Given the description of an element on the screen output the (x, y) to click on. 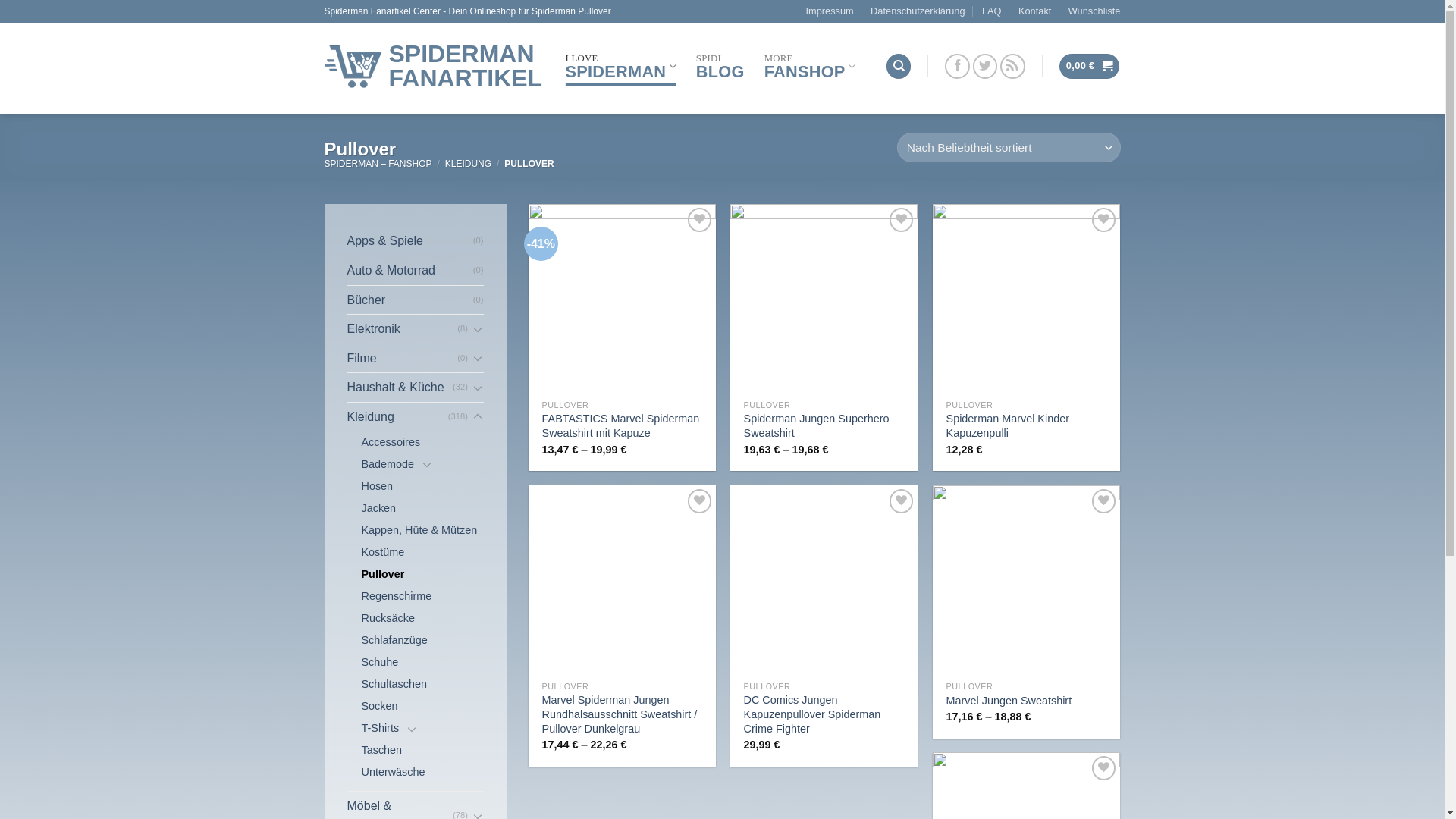
Bademode Element type: text (387, 464)
FABTASTICS Marvel Spiderman Sweatshirt mit Kapuze Element type: text (622, 425)
Auto & Motorrad Element type: text (410, 270)
Impressum Element type: text (829, 11)
Accessoires Element type: text (390, 442)
Spiderman Marvel Kinder Kapuzenpulli Element type: text (1026, 425)
Filme Element type: text (402, 358)
Hosen Element type: text (376, 486)
Jacken Element type: text (377, 508)
Elektronik Element type: text (402, 328)
Pullover Element type: text (382, 574)
Spiderman Jungen Superhero Sweatshirt Element type: text (824, 425)
Marvel Jungen Sweatshirt Element type: text (1009, 700)
KLEIDUNG Element type: text (468, 163)
Kontakt Element type: text (1034, 11)
Schultaschen Element type: text (393, 684)
SPIDERMAN FANARTIKEL Element type: text (433, 65)
SPIDI
BLOG Element type: text (720, 65)
I LOVE
SPIDERMAN Element type: text (620, 65)
FAQ Element type: text (991, 11)
DC Comics Jungen Kapuzenpullover Spiderman Crime Fighter Element type: text (824, 714)
Socken Element type: text (378, 706)
T-Shirts Element type: text (379, 728)
Apps & Spiele Element type: text (410, 240)
MORE
FANSHOP Element type: text (809, 65)
Regenschirme Element type: text (395, 596)
Kleidung Element type: text (397, 416)
Taschen Element type: text (380, 750)
Schuhe Element type: text (379, 662)
Wunschliste Element type: text (1094, 11)
